Given the description of an element on the screen output the (x, y) to click on. 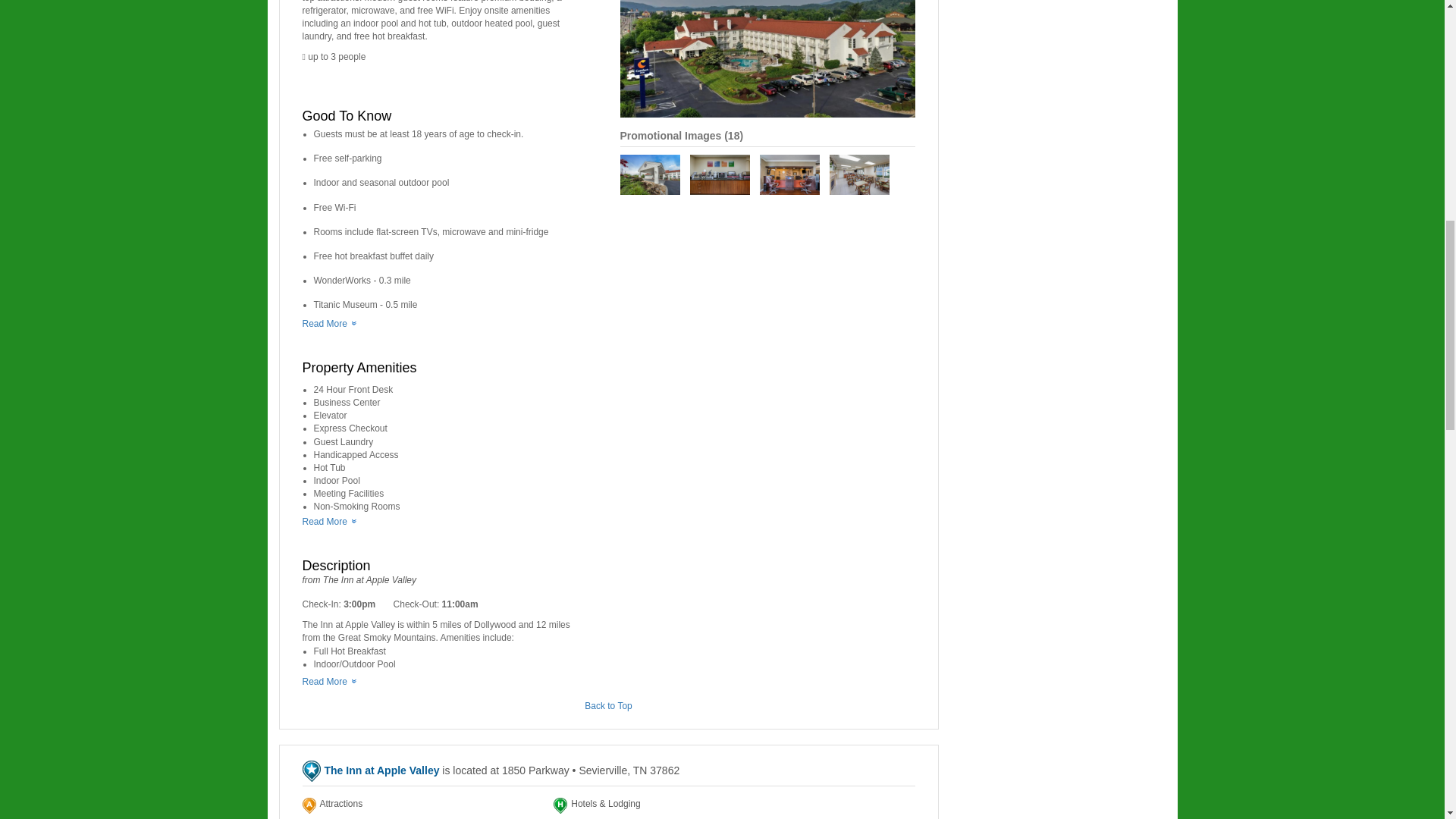
18 (733, 135)
Read More (328, 681)
Read More (328, 521)
Read More (328, 323)
